Given the description of an element on the screen output the (x, y) to click on. 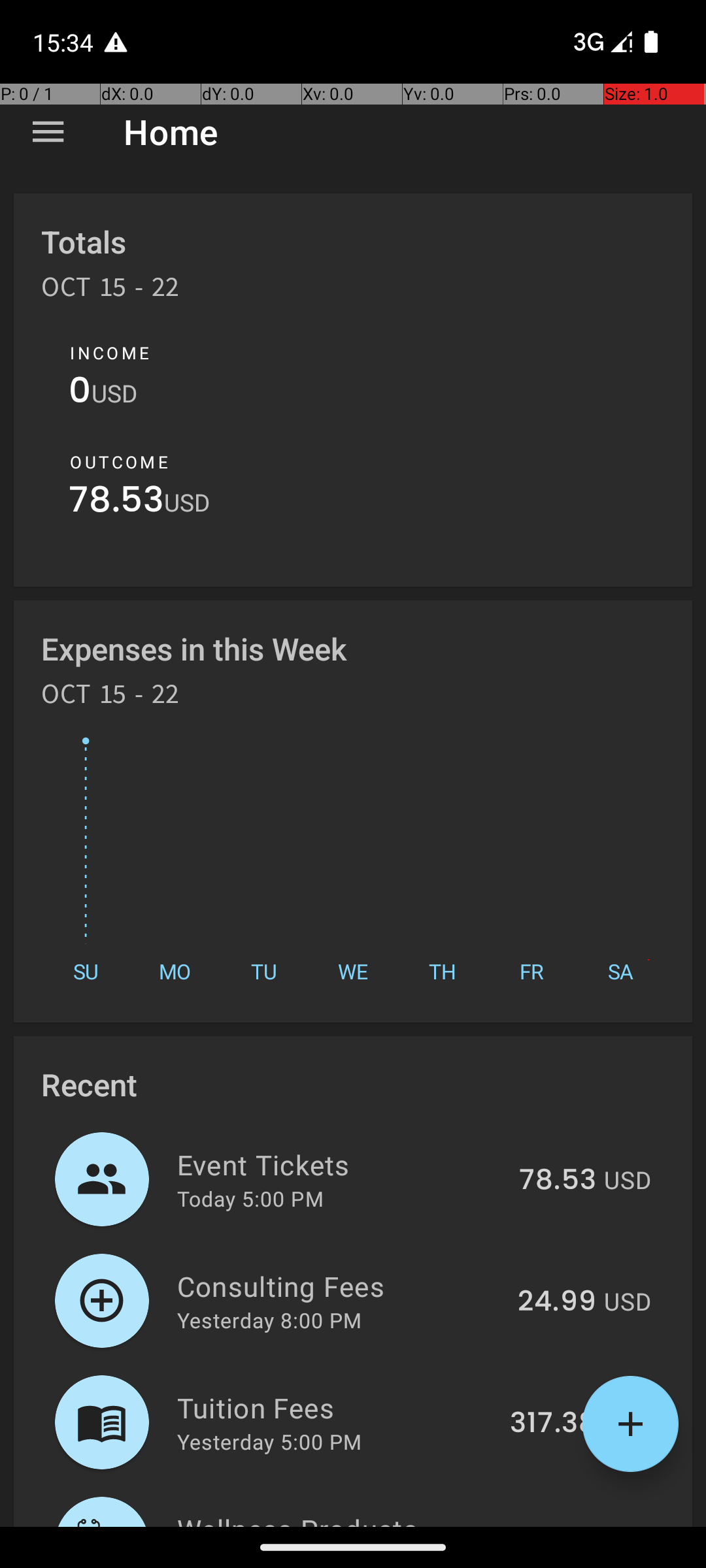
78.53 Element type: android.widget.TextView (116, 502)
Event Tickets Element type: android.widget.TextView (340, 1164)
Today 5:00 PM Element type: android.widget.TextView (250, 1198)
Consulting Fees Element type: android.widget.TextView (339, 1285)
Yesterday 8:00 PM Element type: android.widget.TextView (269, 1320)
24.99 Element type: android.widget.TextView (556, 1301)
Tuition Fees Element type: android.widget.TextView (335, 1407)
Yesterday 5:00 PM Element type: android.widget.TextView (269, 1441)
317.38 Element type: android.widget.TextView (552, 1423)
Wellness Products Element type: android.widget.TextView (329, 1518)
499.89 Element type: android.widget.TextView (546, 1524)
